Given the description of an element on the screen output the (x, y) to click on. 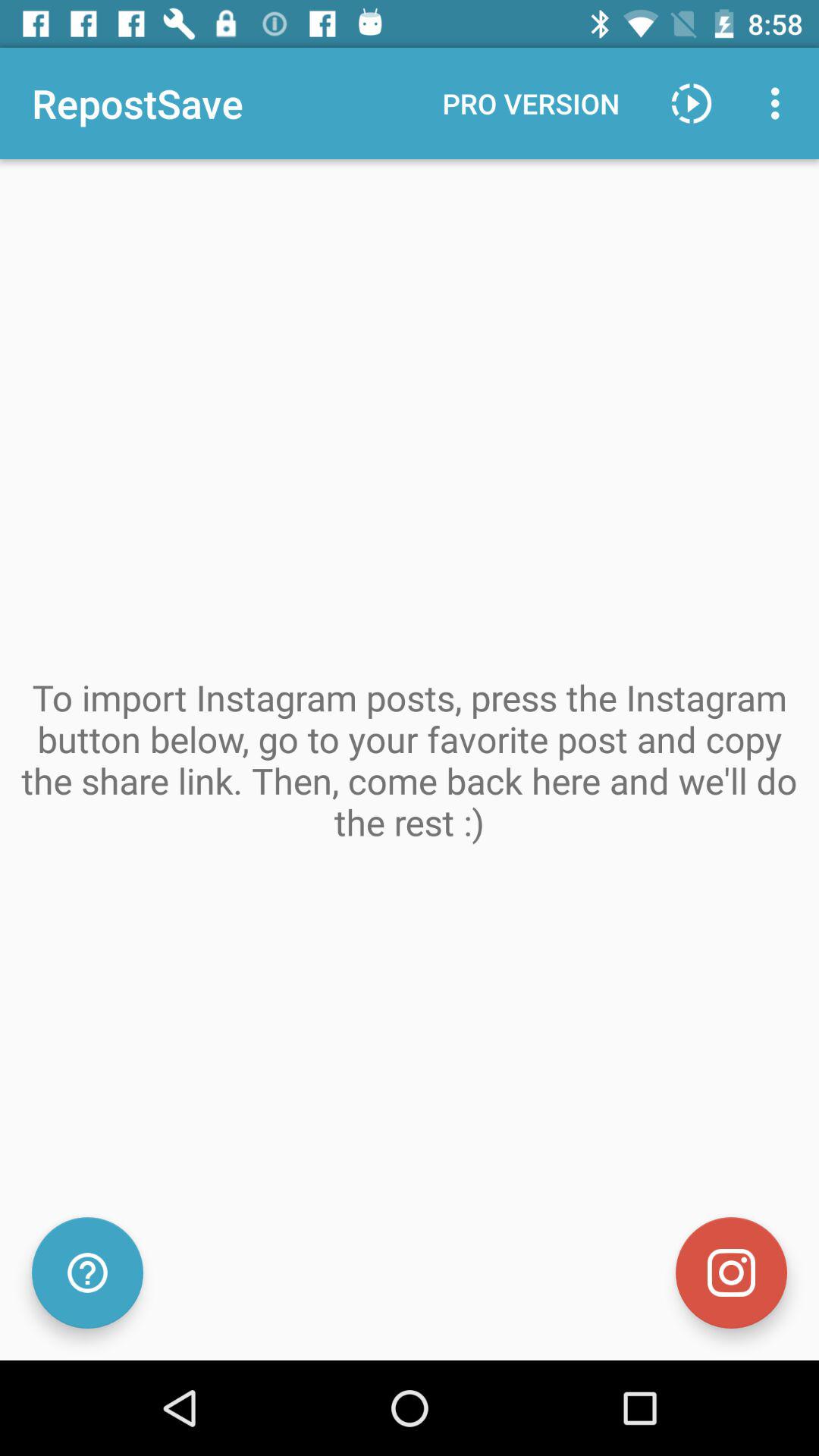
check for help (87, 1272)
